Given the description of an element on the screen output the (x, y) to click on. 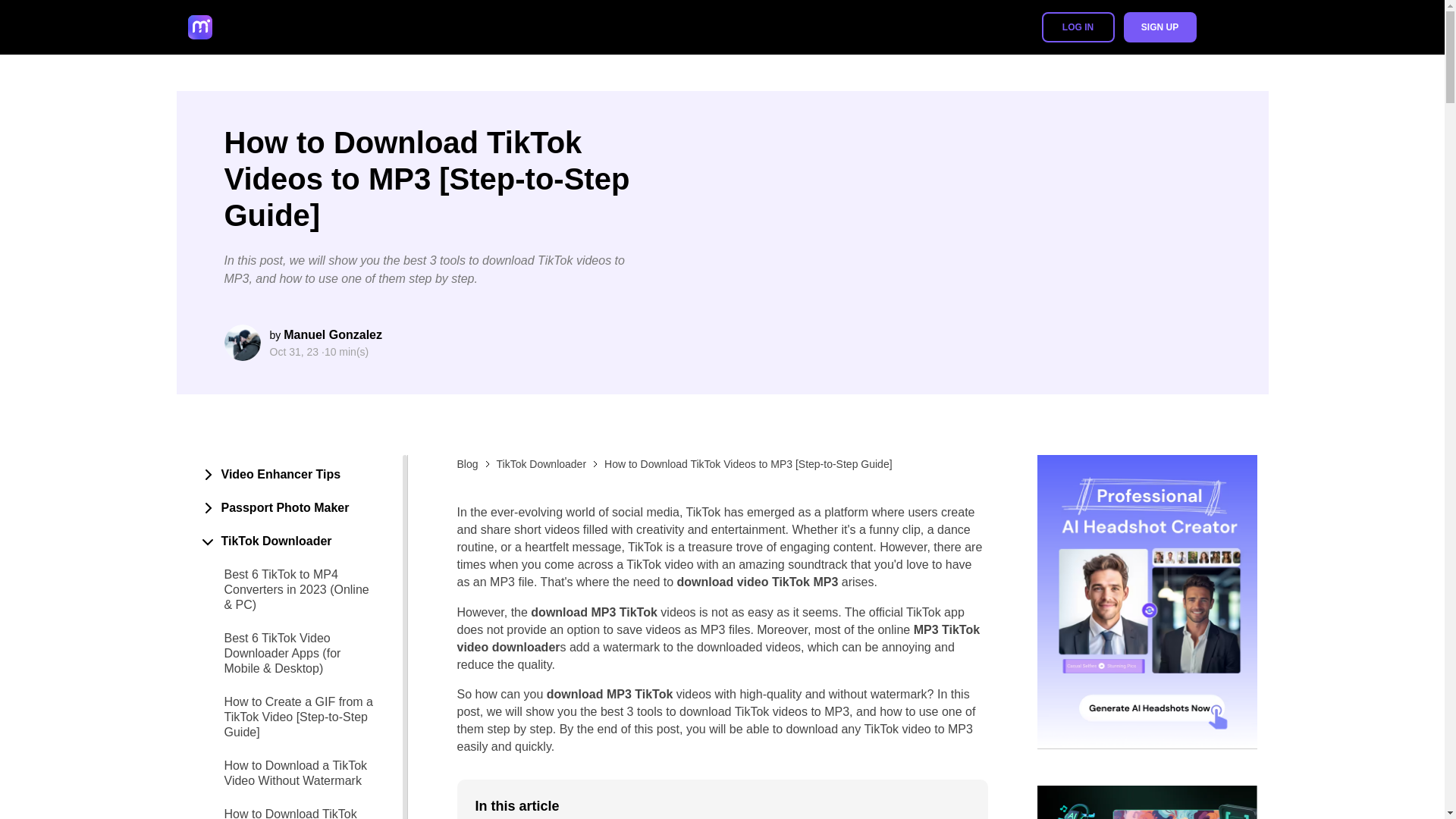
Media.io (244, 27)
